Given the description of an element on the screen output the (x, y) to click on. 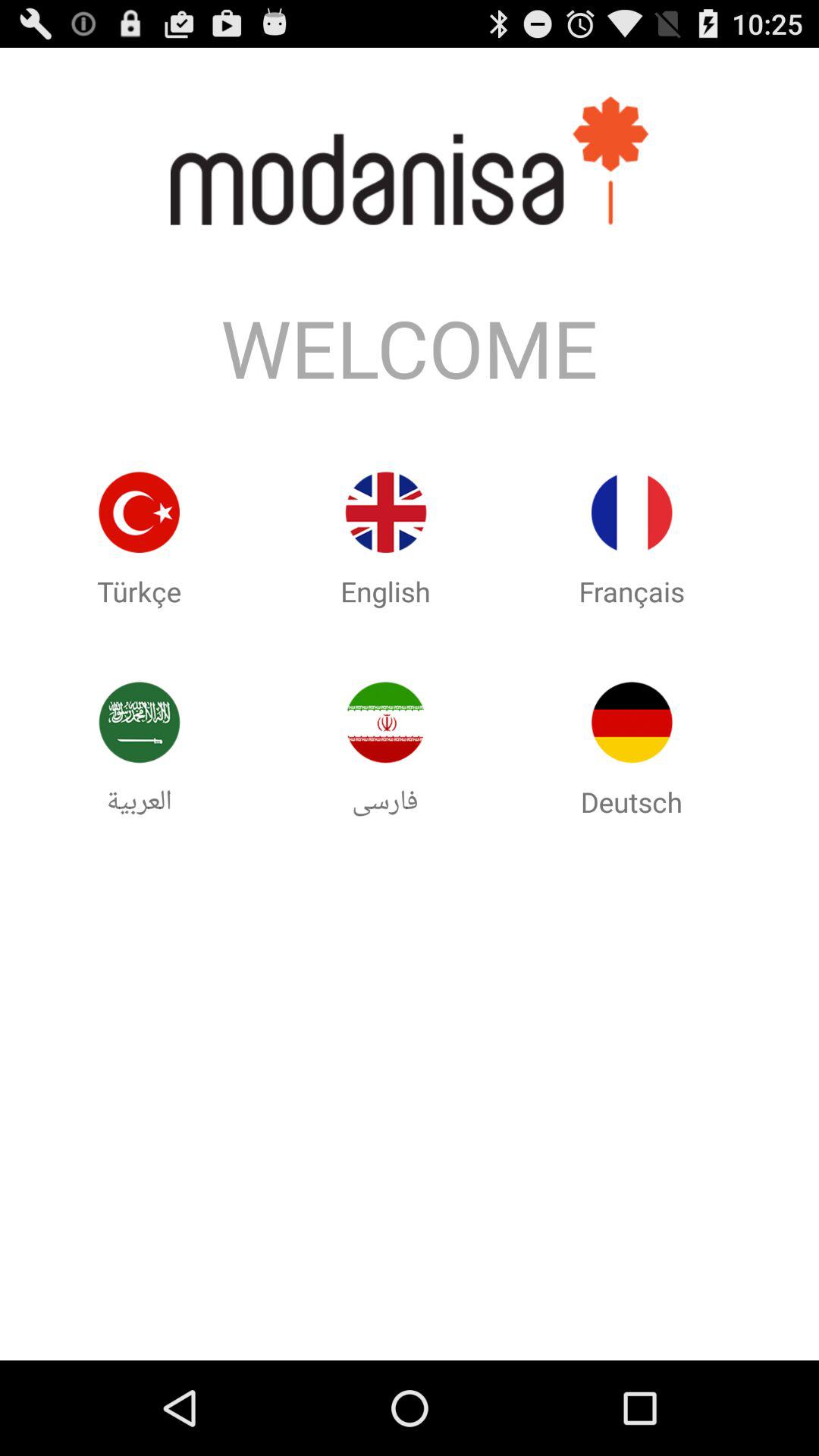
select german as language (631, 722)
